Given the description of an element on the screen output the (x, y) to click on. 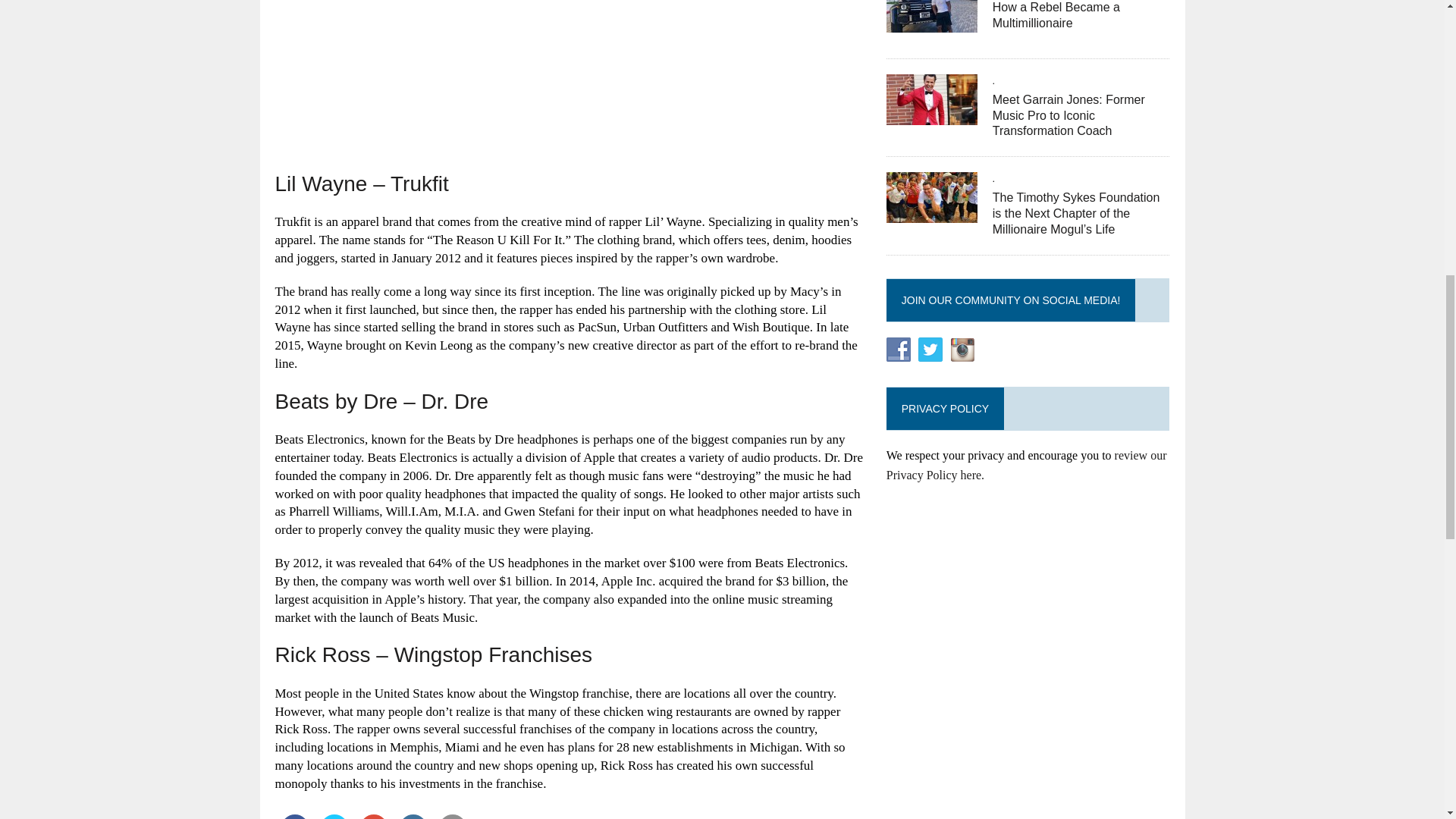
Share on Google Plus (373, 816)
Advertisement (569, 85)
Share it on Email (451, 816)
Share on LinkedIn (412, 816)
Share on Facebook (294, 816)
Share on Twitter (333, 816)
